Given the description of an element on the screen output the (x, y) to click on. 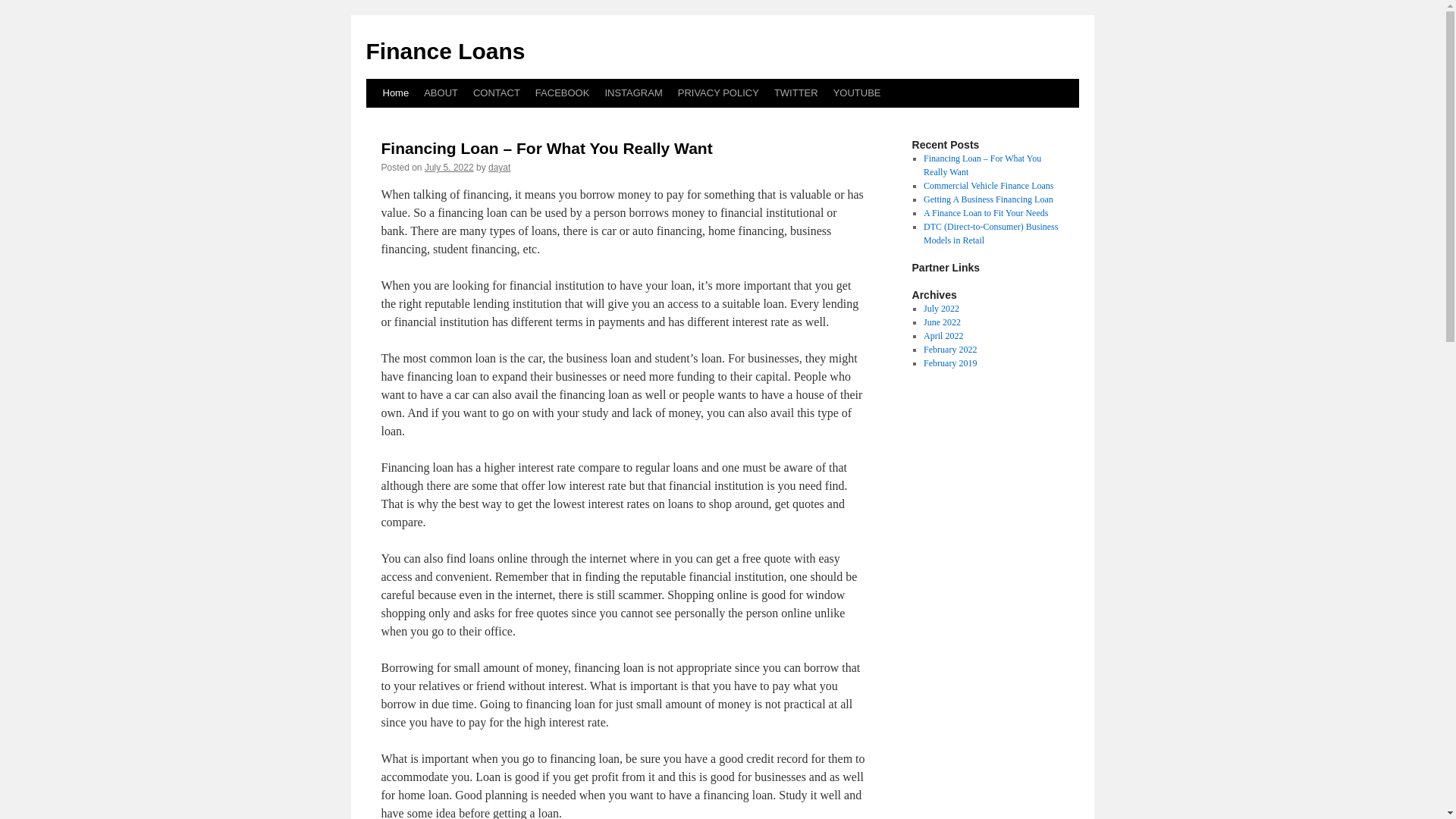
July 2022 (941, 308)
ABOUT (440, 92)
TWITTER (796, 92)
INSTAGRAM (632, 92)
FACEBOOK (561, 92)
2:43 pm (449, 167)
Home (395, 92)
Commercial Vehicle Finance Loans (987, 185)
dayat (499, 167)
Getting A Business Financing Loan (987, 199)
Finance Loans (444, 50)
June 2022 (941, 321)
July 5, 2022 (449, 167)
Home (395, 92)
February 2022 (949, 348)
